Given the description of an element on the screen output the (x, y) to click on. 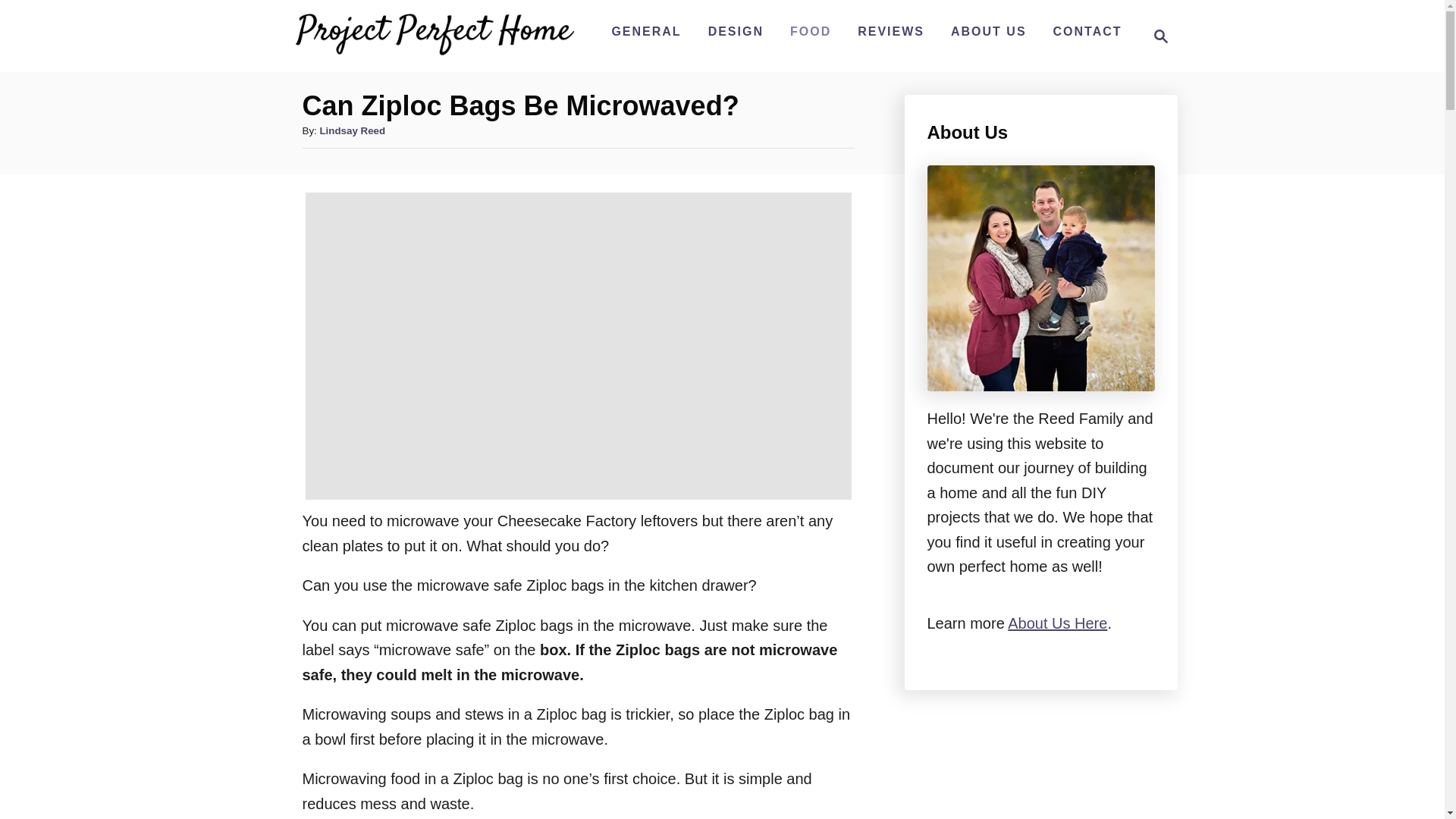
Lindsay Reed (351, 130)
CONTACT (1087, 31)
FOOD (810, 31)
Magnifying Glass (1160, 36)
About Us Here (1056, 623)
DESIGN (735, 31)
ABOUT US (988, 31)
REVIEWS (890, 31)
Project Perfect Home (1155, 36)
